Given the description of an element on the screen output the (x, y) to click on. 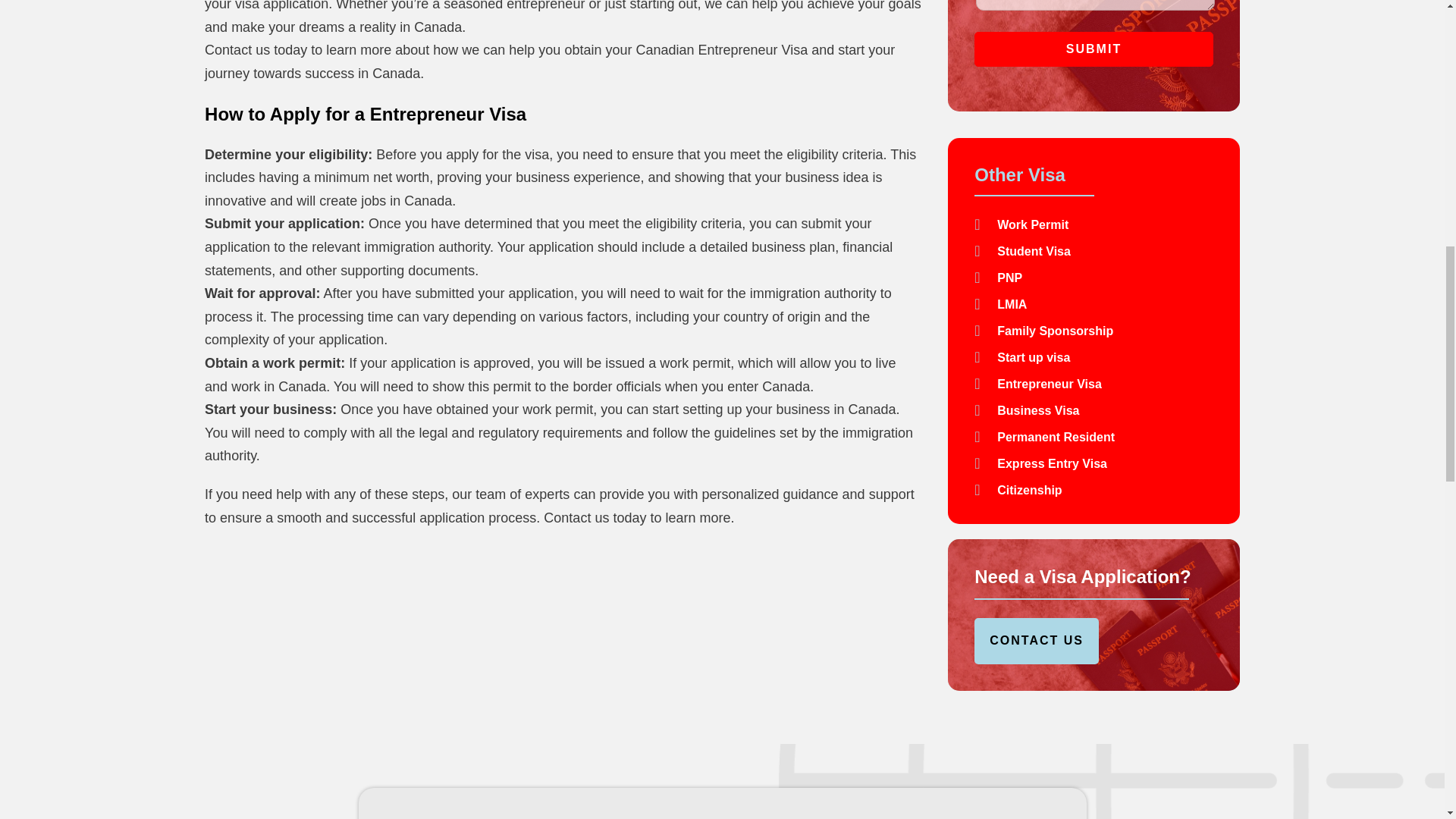
Entrepreneur Visa (1093, 383)
Submit (1093, 48)
Permanent Resident (1093, 436)
Family Sponsorship (1093, 330)
Submit (1093, 48)
Student Visa (1093, 250)
PNP (1093, 277)
Start up visa (1093, 356)
Express Entry Visa (1093, 462)
Citizenship (1093, 489)
LMIA (1093, 304)
Business Visa (1093, 409)
Work Permit (1093, 224)
CONTACT US (1036, 640)
